Given the description of an element on the screen output the (x, y) to click on. 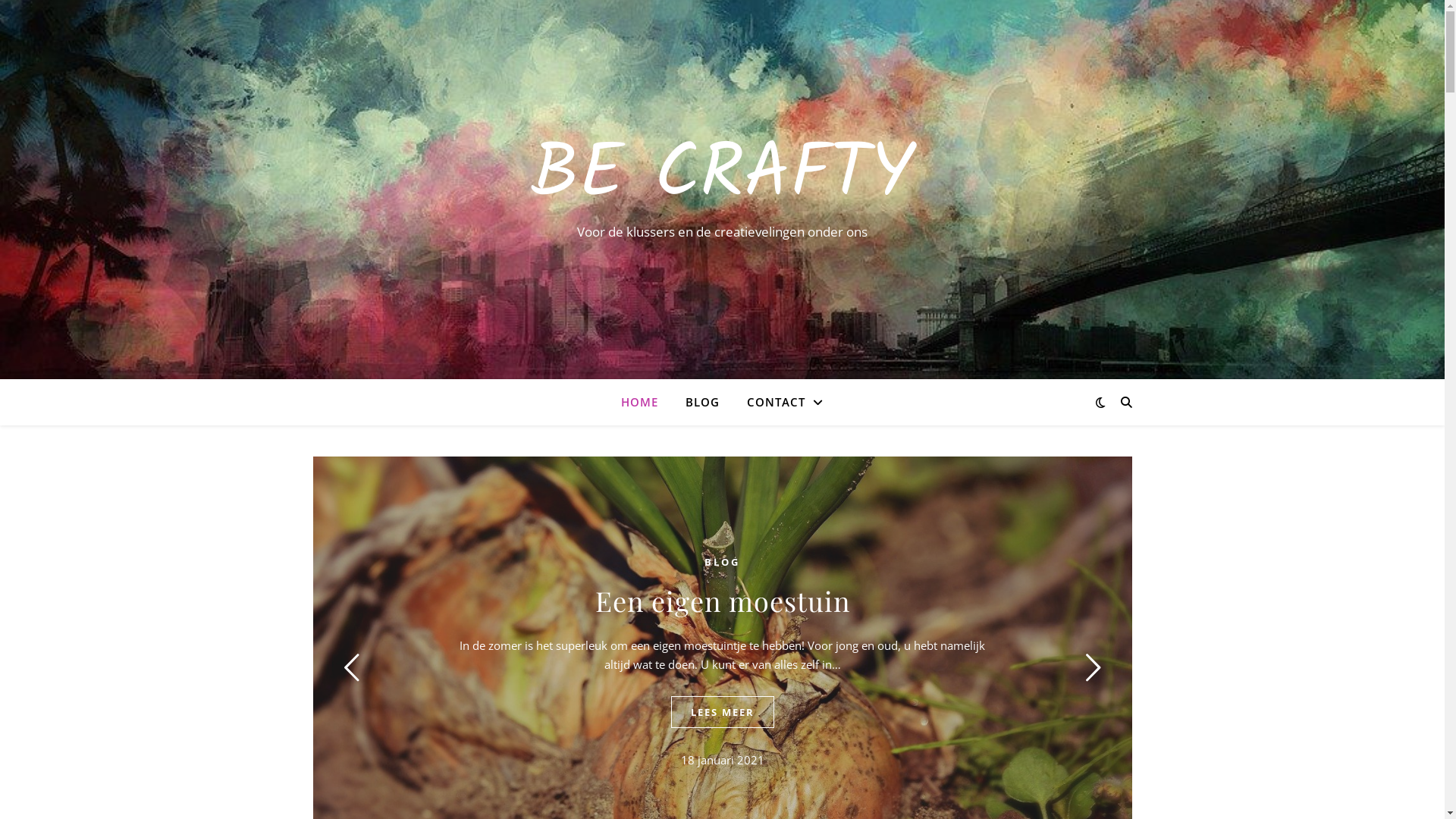
CONTACT Element type: text (778, 402)
LEES MEER Element type: text (721, 712)
BLOG Element type: text (722, 561)
BLOG Element type: text (702, 401)
BE CRAFTY Element type: text (722, 175)
HOME Element type: text (645, 401)
Een eigen moestuin Element type: text (721, 600)
